Given the description of an element on the screen output the (x, y) to click on. 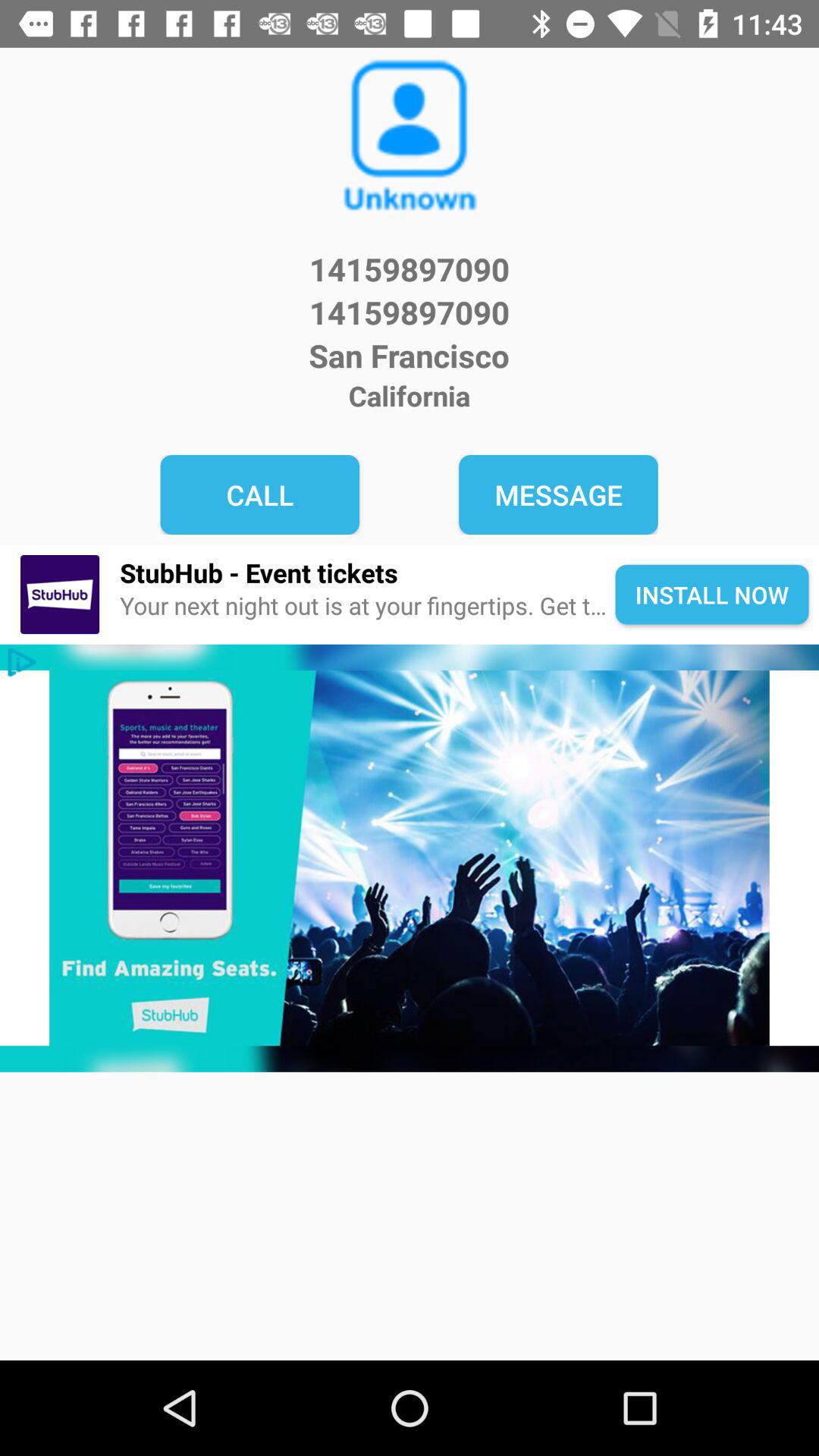
press the item above the stubhub - event tickets (259, 494)
